Given the description of an element on the screen output the (x, y) to click on. 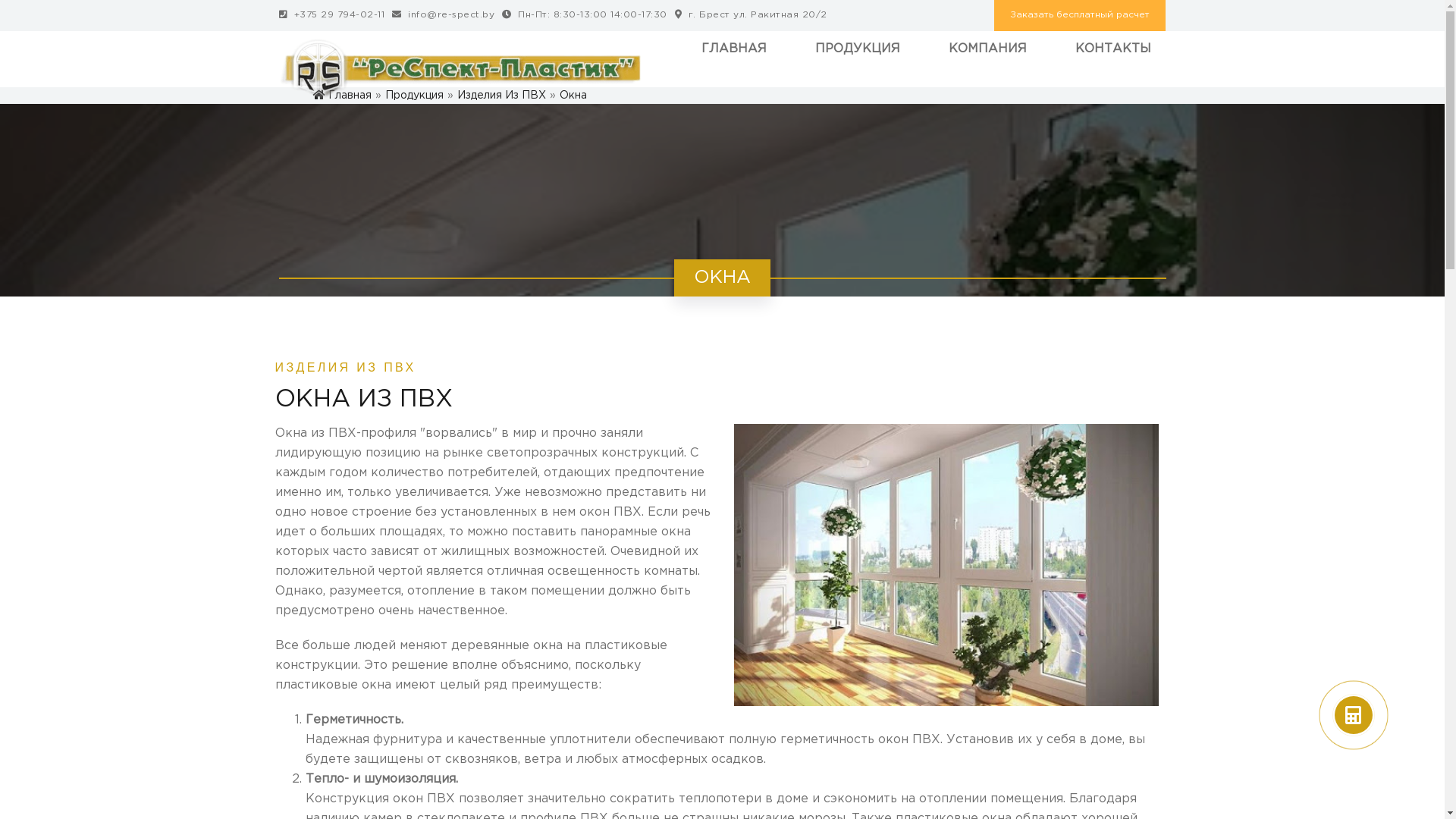
+375 29 794-02-11 Element type: text (332, 14)
icon
info@re-spect.by Element type: text (443, 14)
